Given the description of an element on the screen output the (x, y) to click on. 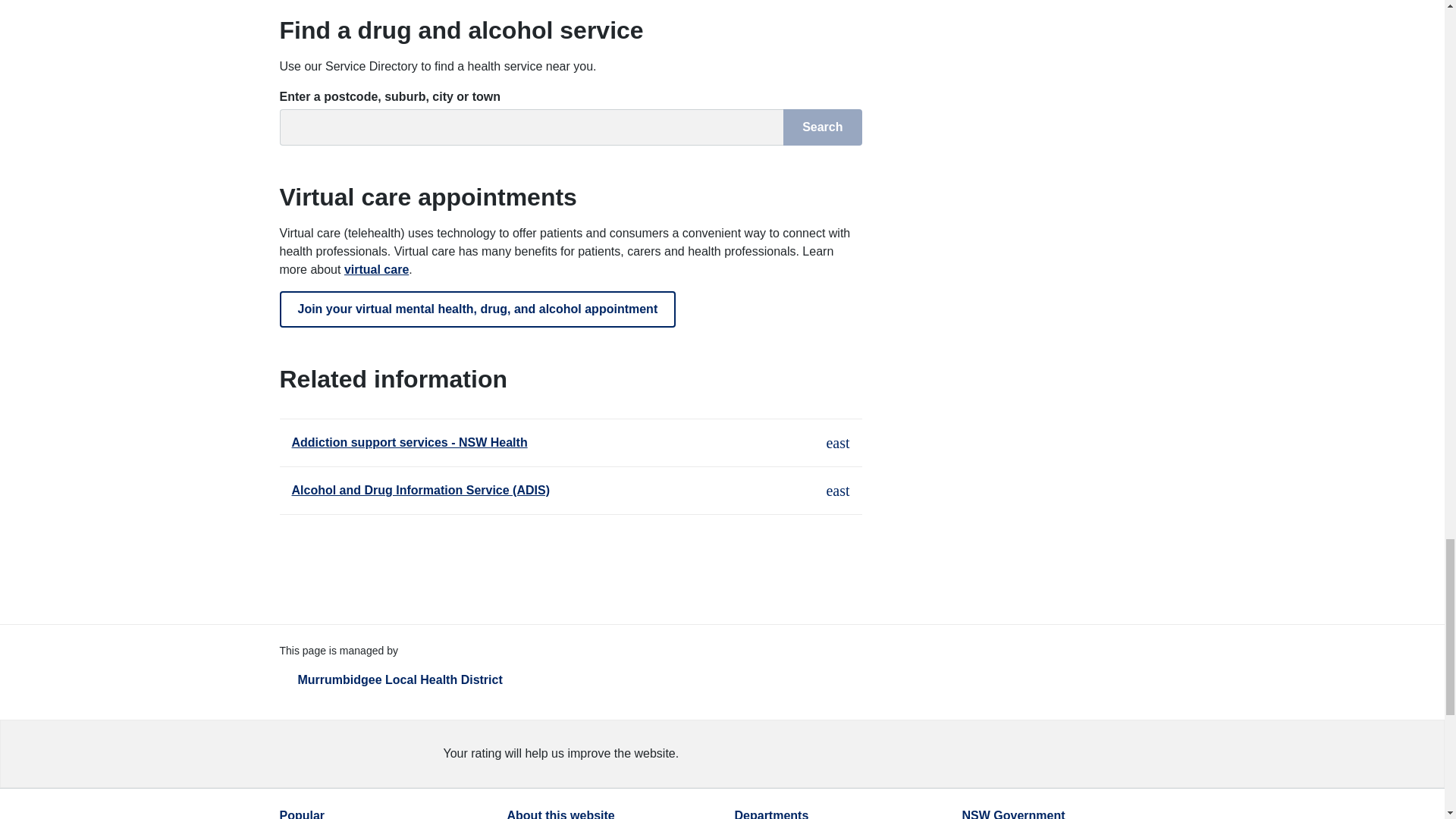
Murrumbidgee virtual care (376, 269)
Search (822, 126)
